Given the description of an element on the screen output the (x, y) to click on. 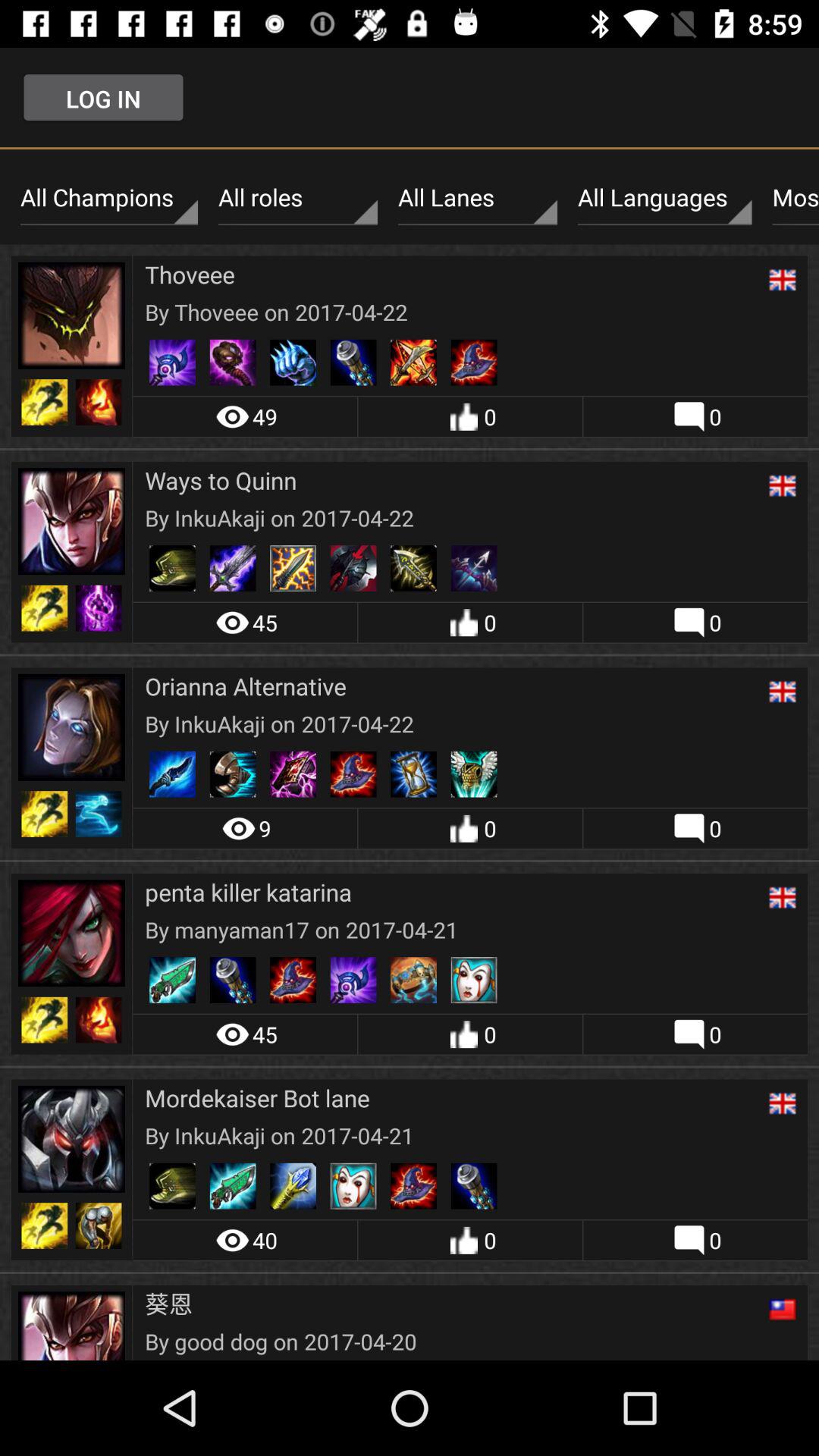
turn off the icon to the right of all languages item (791, 198)
